Given the description of an element on the screen output the (x, y) to click on. 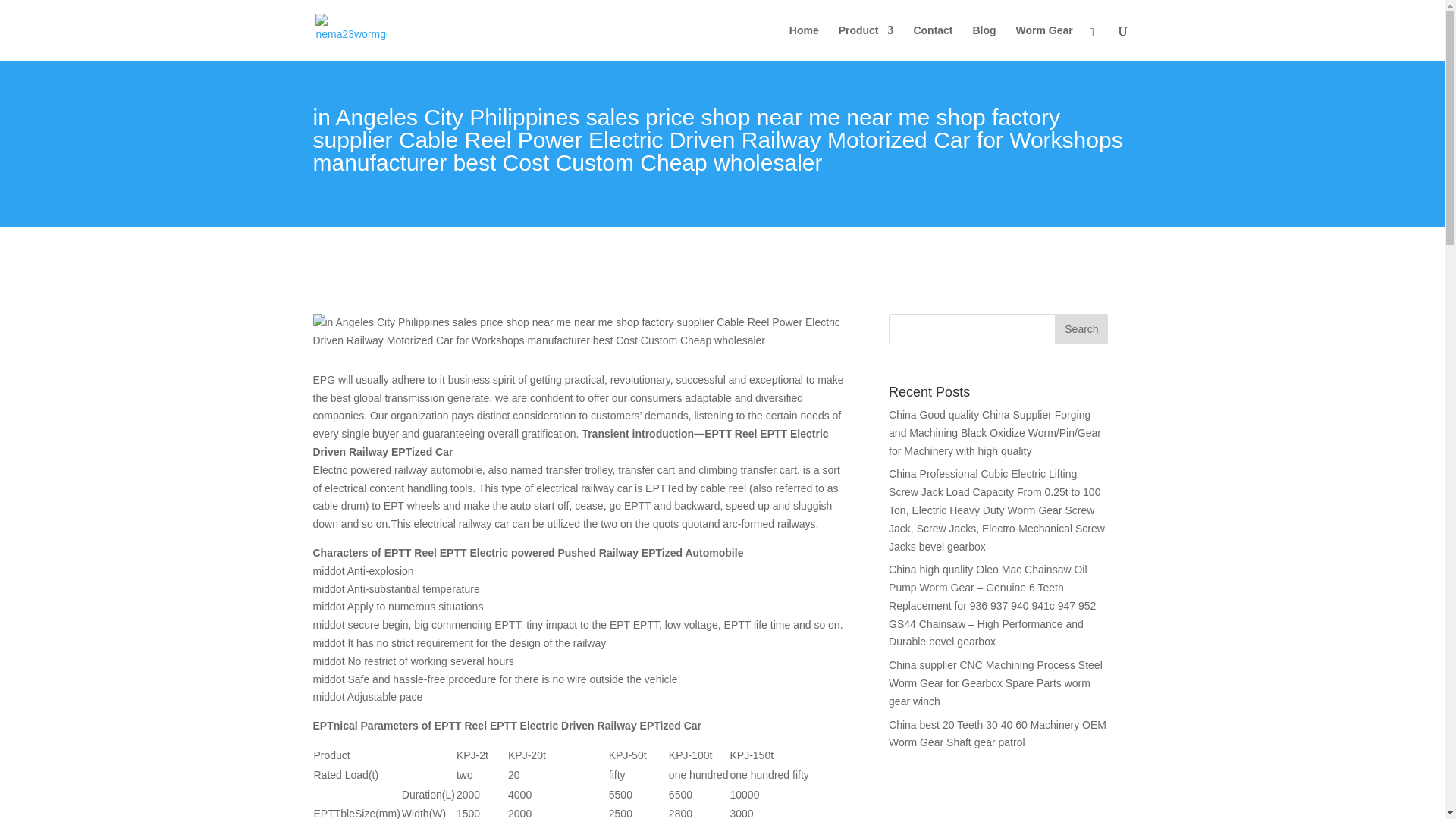
Product (865, 42)
Search (1081, 328)
Search (1081, 328)
Contact (932, 42)
Worm Gear (1042, 42)
